Given the description of an element on the screen output the (x, y) to click on. 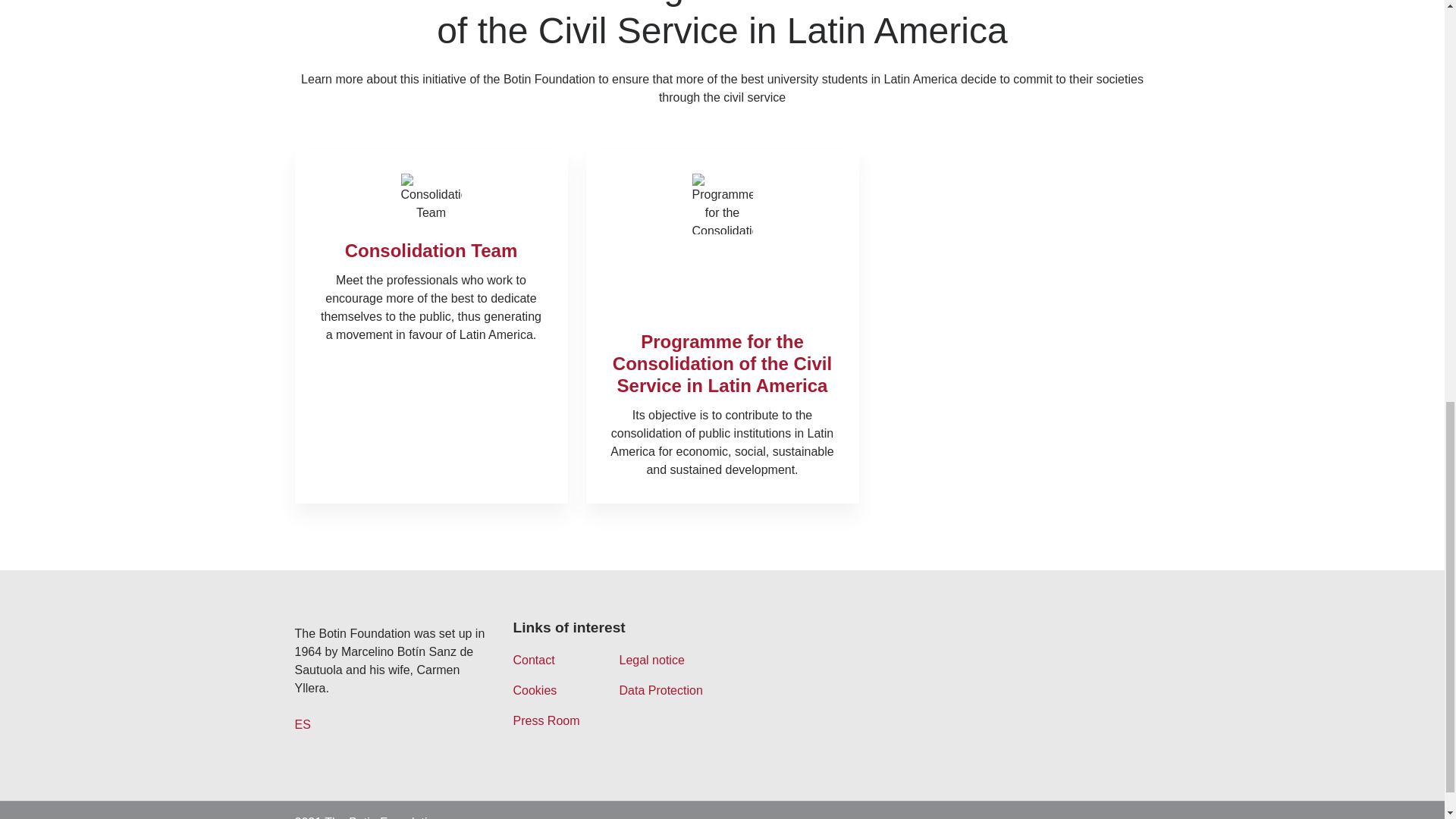
ES (302, 724)
Consolidation Team (431, 250)
